Given the description of an element on the screen output the (x, y) to click on. 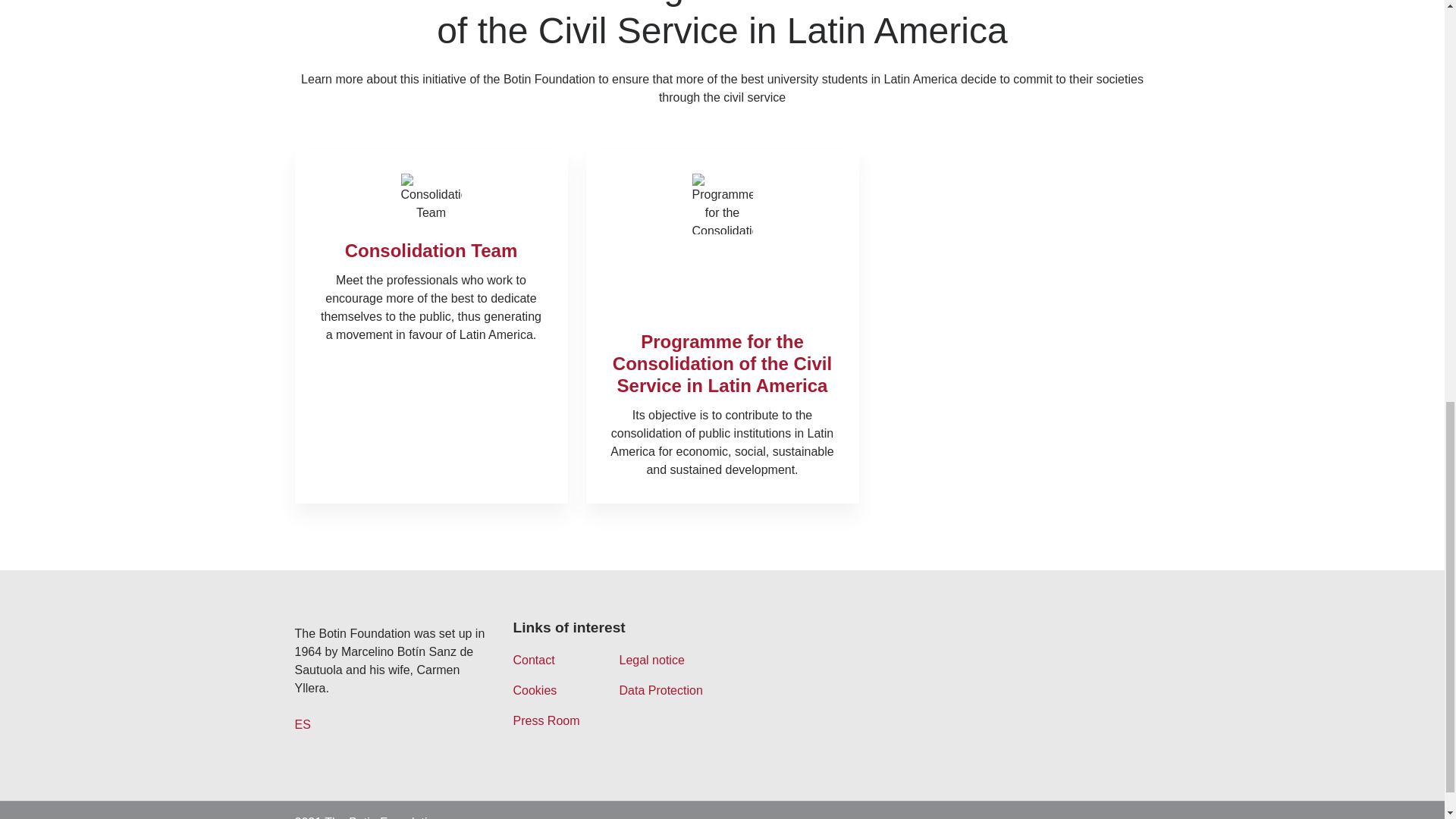
ES (302, 724)
Consolidation Team (431, 250)
